Given the description of an element on the screen output the (x, y) to click on. 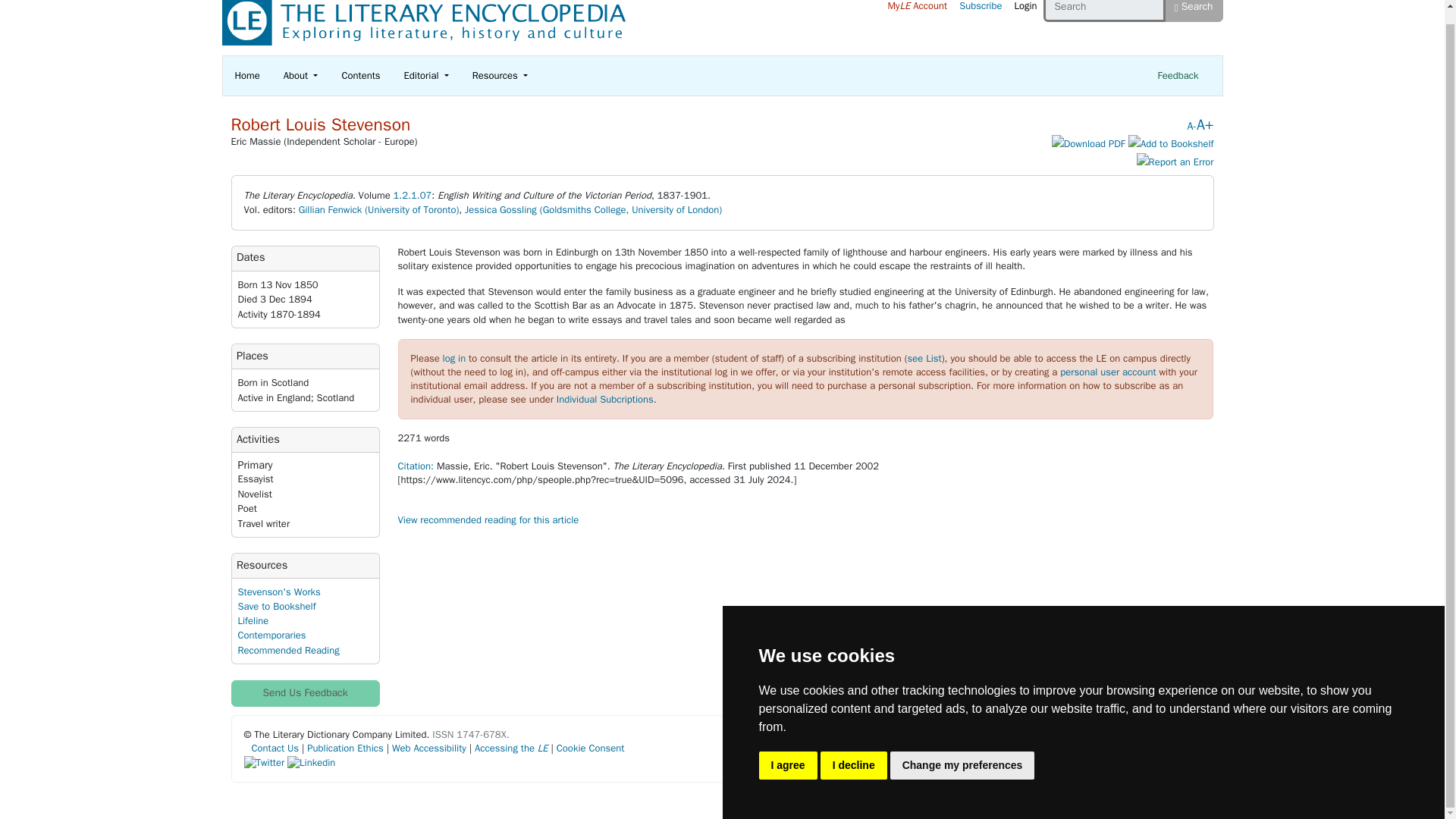
MyLE Account (916, 9)
Save to Bookshelf (1171, 144)
Report an Error (1175, 162)
Contents (359, 75)
Feedback (1177, 75)
Subscribe (980, 9)
Editorial (425, 75)
Login (1024, 9)
Change my preferences (962, 751)
Search (1193, 11)
Resources (499, 75)
Home (247, 75)
Save to PDF (1088, 144)
I decline (853, 751)
About (301, 75)
